Given the description of an element on the screen output the (x, y) to click on. 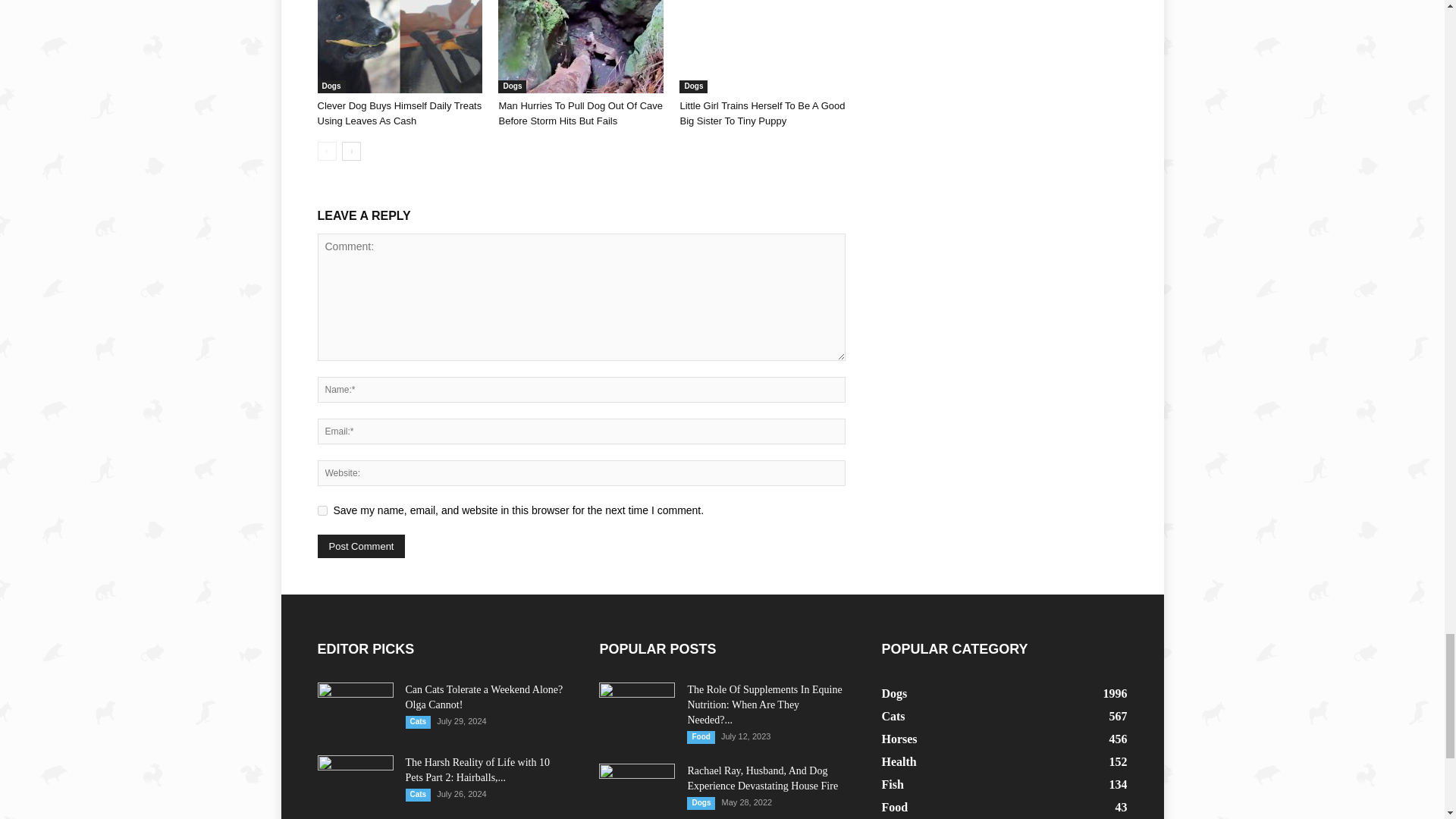
Post Comment (360, 545)
yes (321, 510)
